Given the description of an element on the screen output the (x, y) to click on. 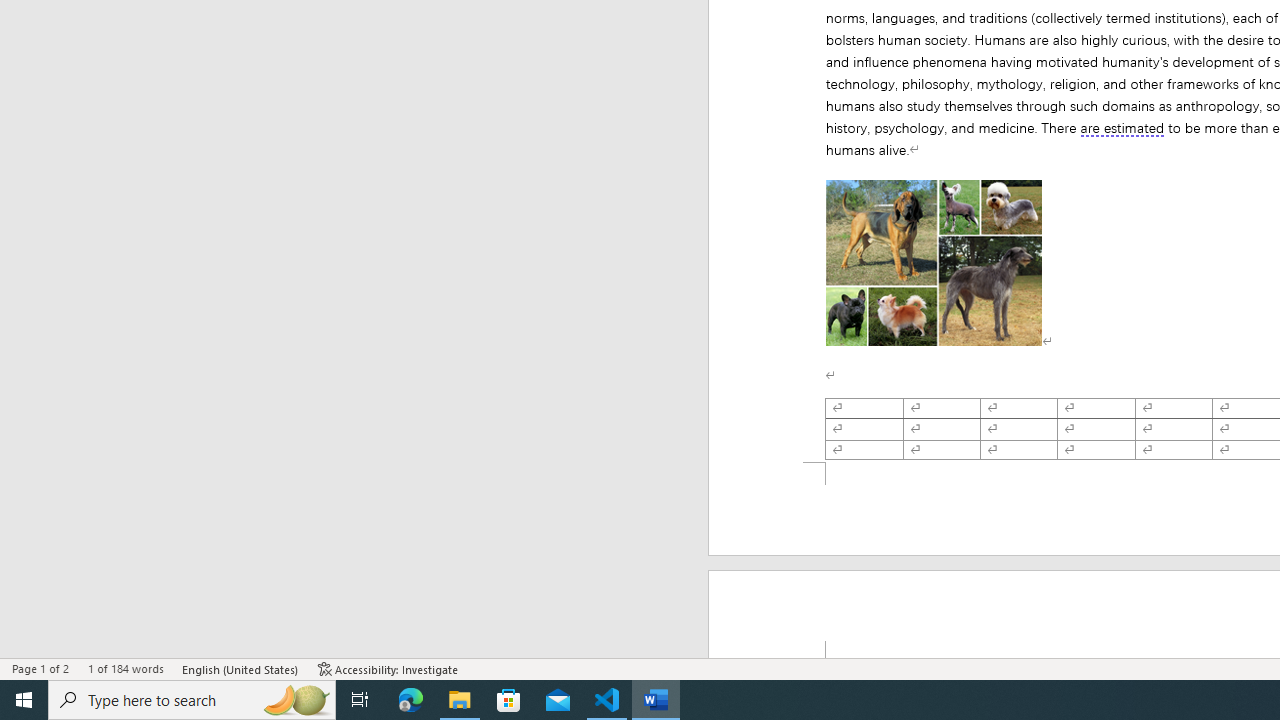
Page Number Page 1 of 2 (39, 668)
